Given the description of an element on the screen output the (x, y) to click on. 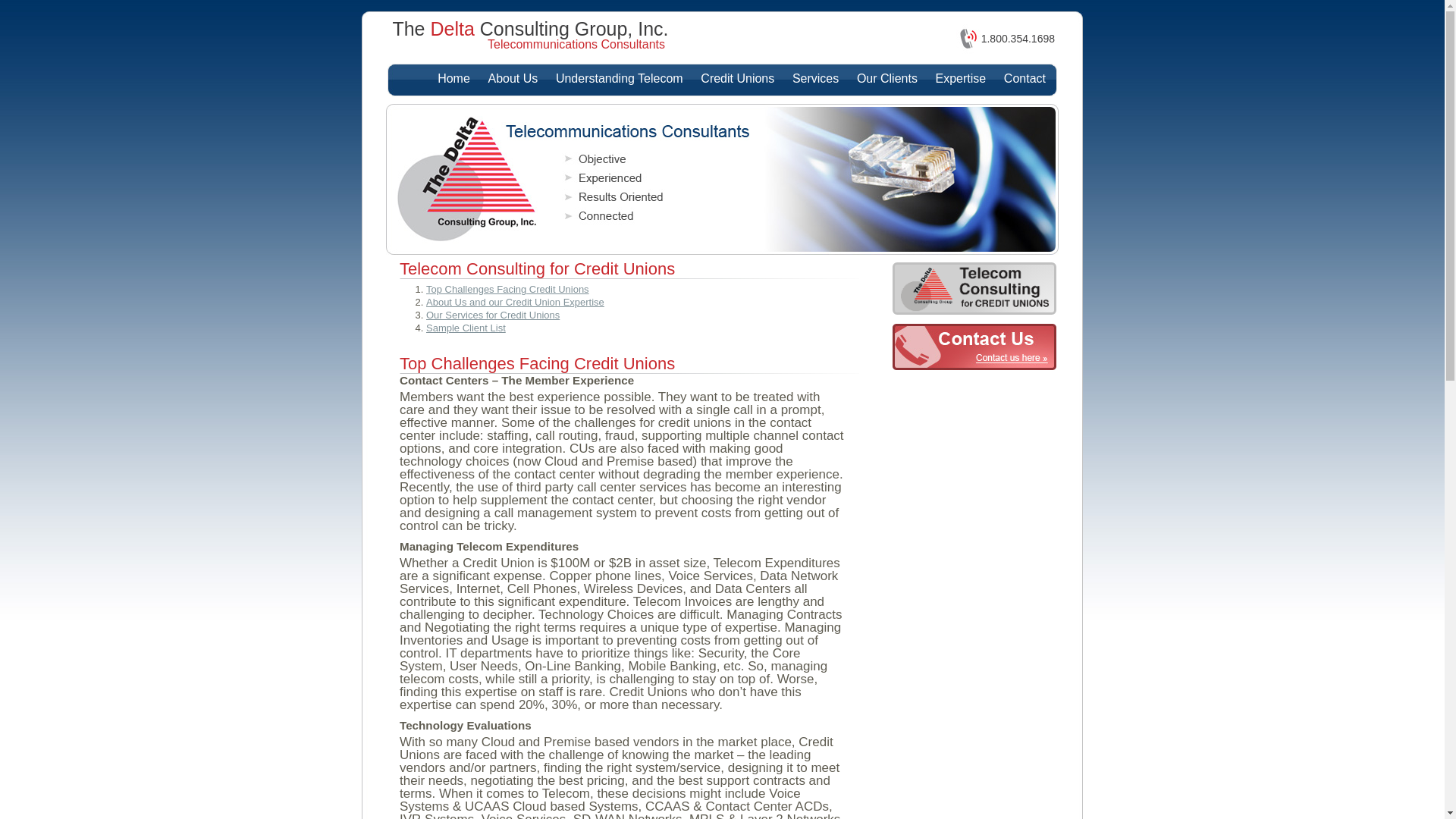
About Us and our Credit Union Expertise Element type: text (515, 301)
Home Element type: text (453, 78)
Understanding Telecom Element type: text (619, 78)
Our Clients Element type: text (887, 78)
Contact Element type: text (1024, 78)
Sample Client List Element type: text (465, 327)
Credit Unions Element type: text (737, 78)
Services Element type: text (815, 78)
Expertise Element type: text (960, 78)
Top Challenges Facing Credit Unions Element type: text (507, 288)
About Us Element type: text (512, 78)
Our Services for Credit Unions Element type: text (492, 314)
